Given the description of an element on the screen output the (x, y) to click on. 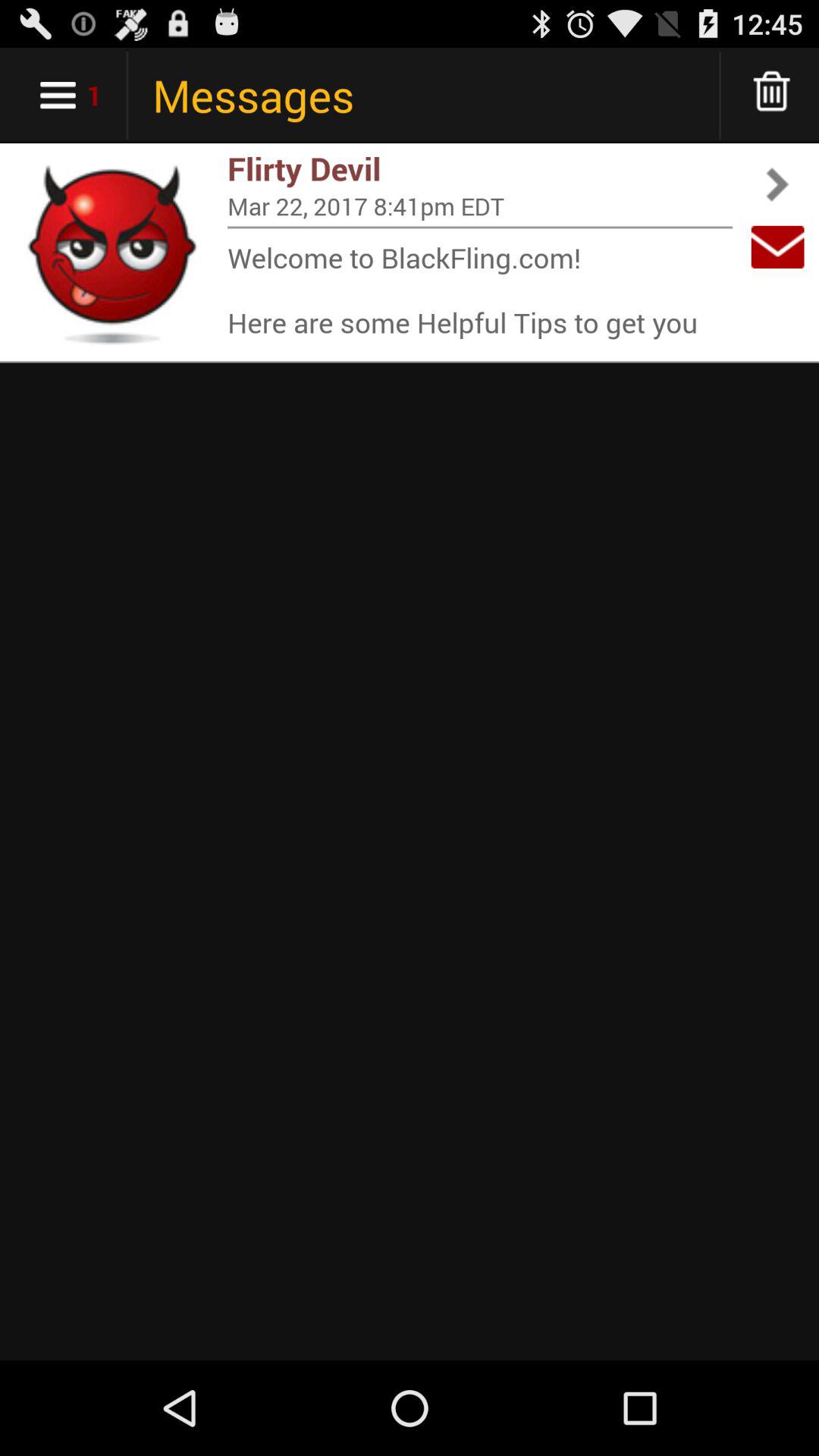
click welcome to blackfling item (479, 289)
